Given the description of an element on the screen output the (x, y) to click on. 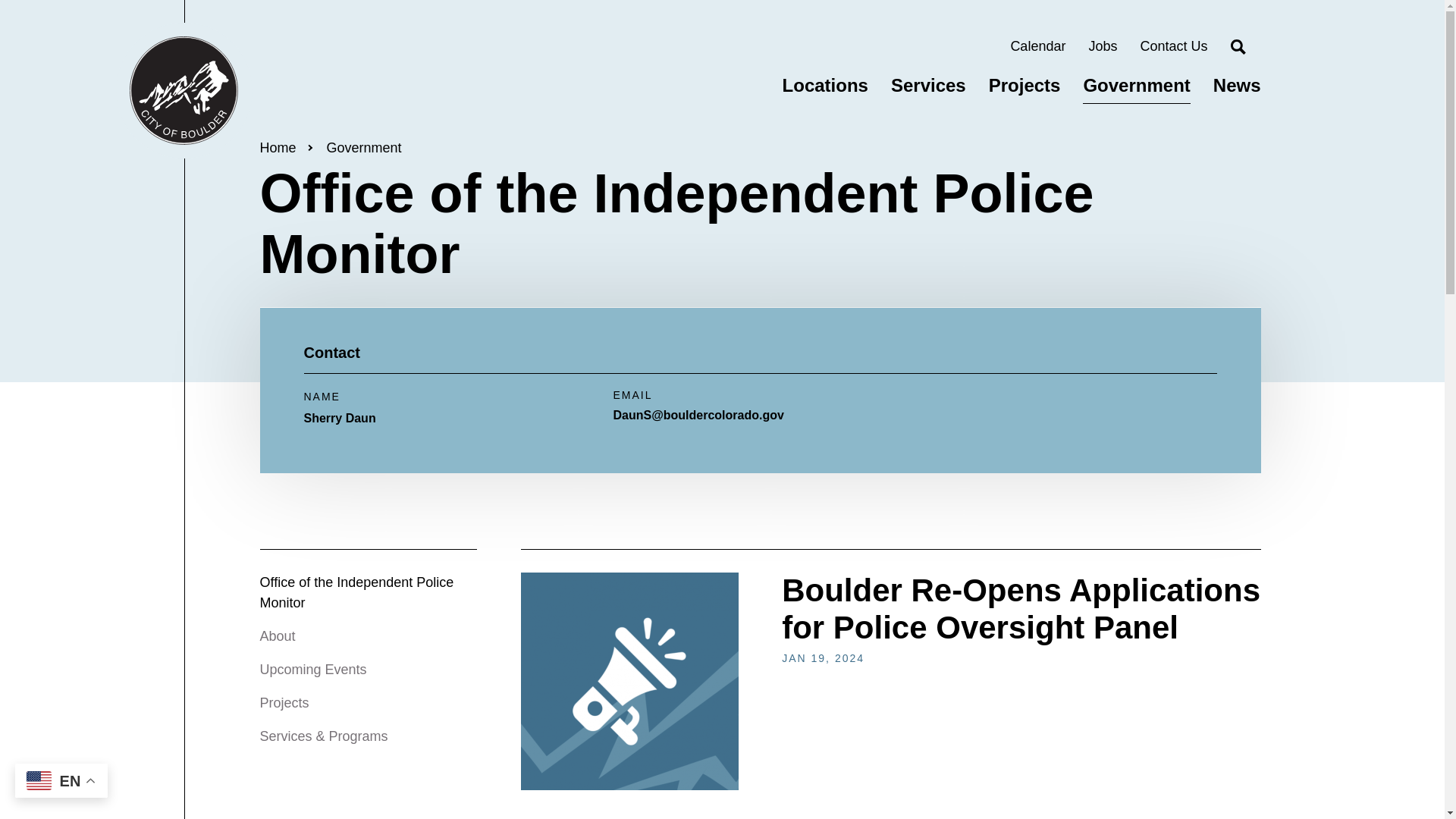
Projects (1024, 85)
Office of the Independent Police Monitor (355, 592)
News (1236, 85)
Skip to main content (3, 3)
Government (363, 147)
Upcoming Events (312, 669)
Home (183, 90)
Calendar (1037, 46)
Projects (283, 702)
About (277, 635)
Jobs (1101, 46)
Locations (825, 85)
Government (1136, 85)
Search (1237, 46)
Services (928, 85)
